Given the description of an element on the screen output the (x, y) to click on. 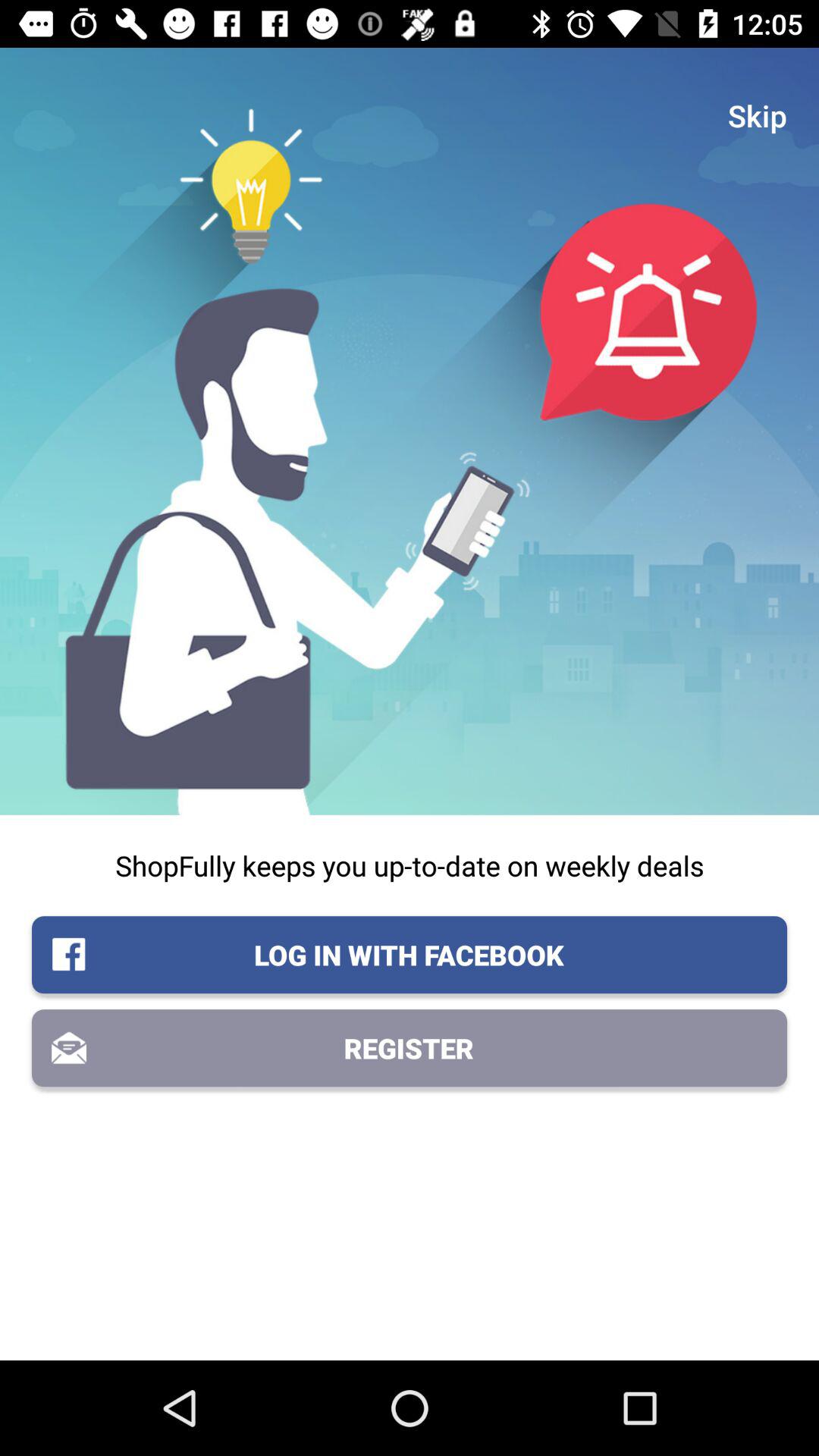
select the icon below the shopfully keeps you icon (409, 954)
